Given the description of an element on the screen output the (x, y) to click on. 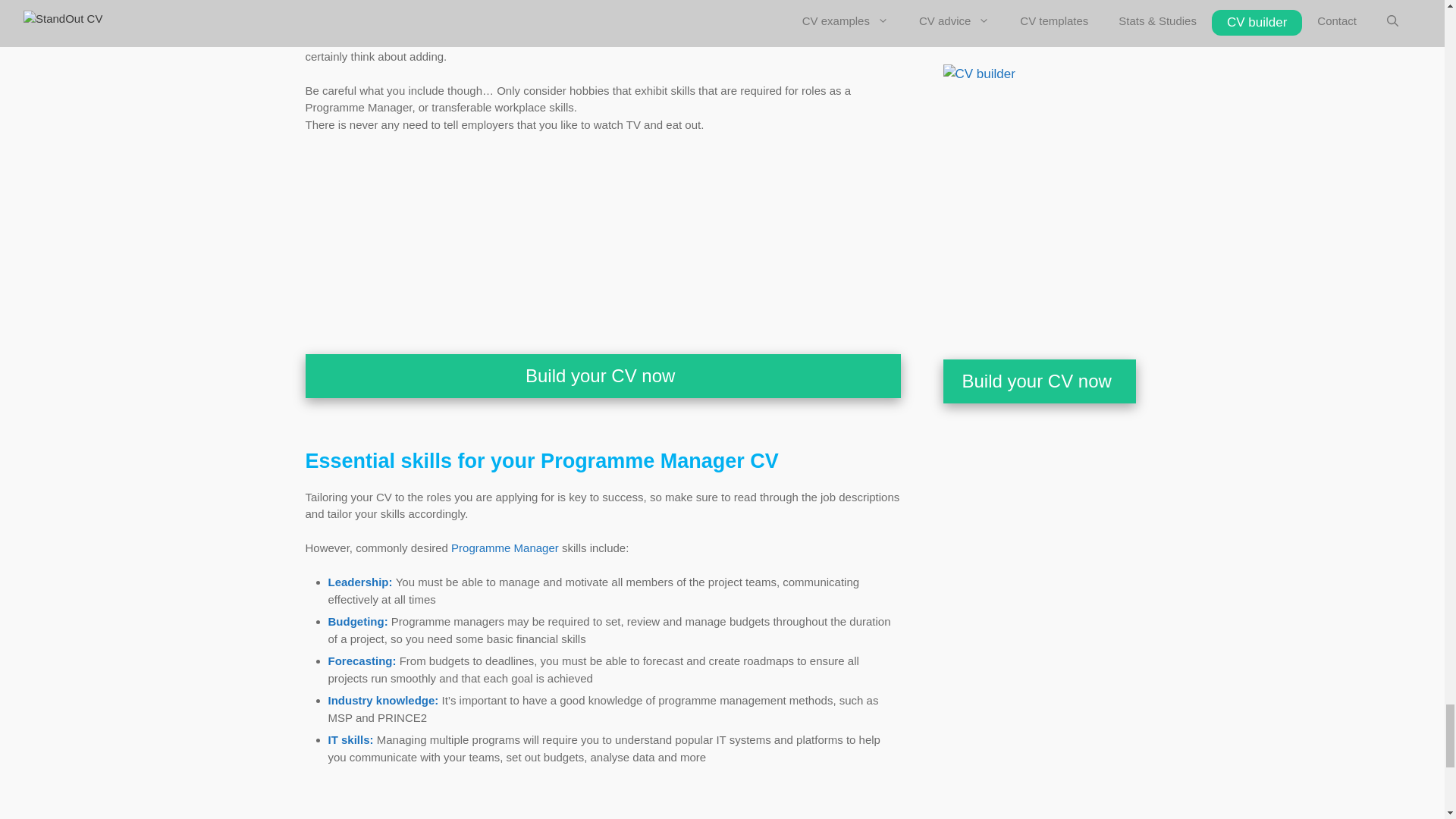
CV hobbies (499, 38)
